Given the description of an element on the screen output the (x, y) to click on. 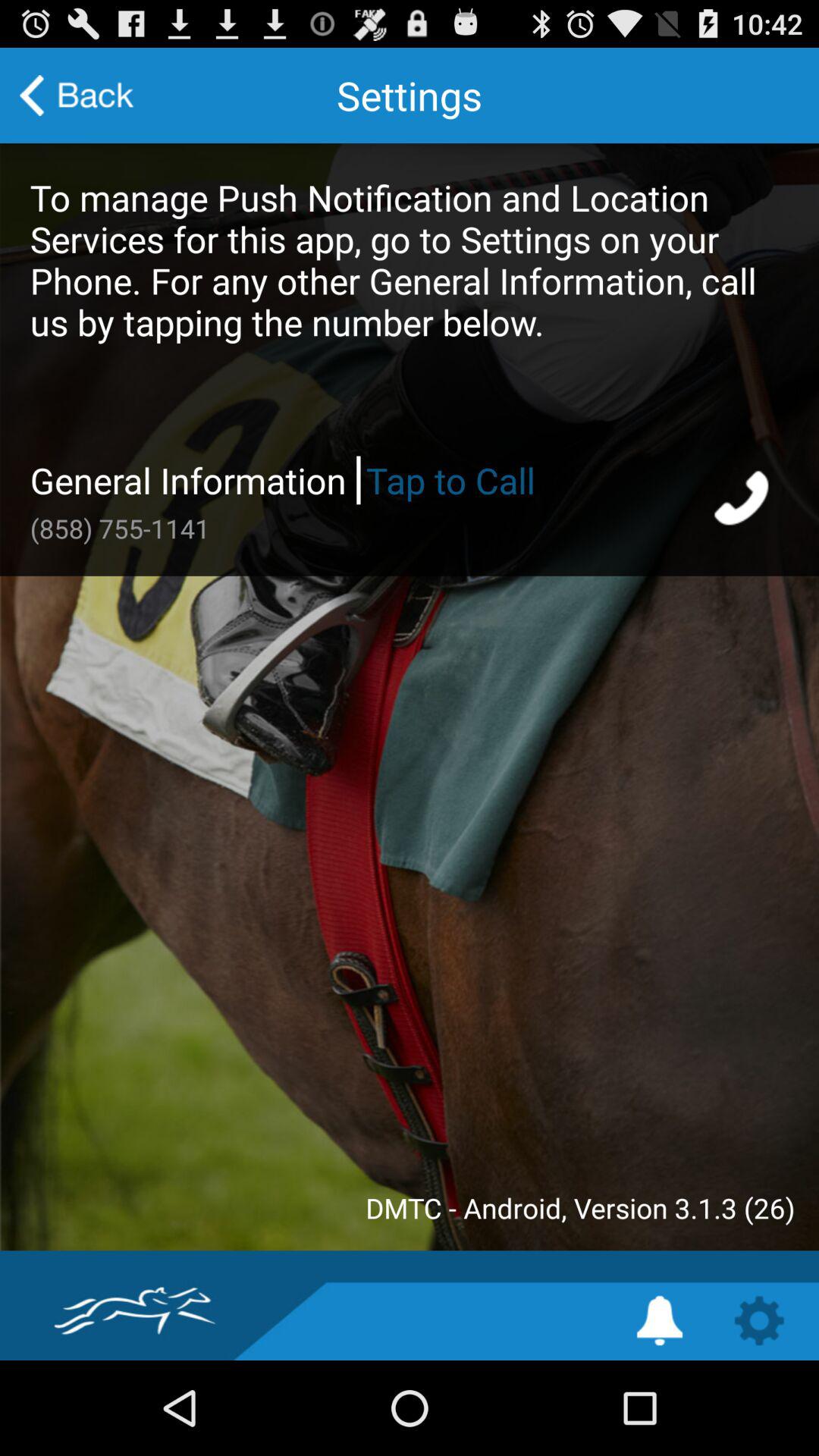
go back to previous screen (76, 95)
